Given the description of an element on the screen output the (x, y) to click on. 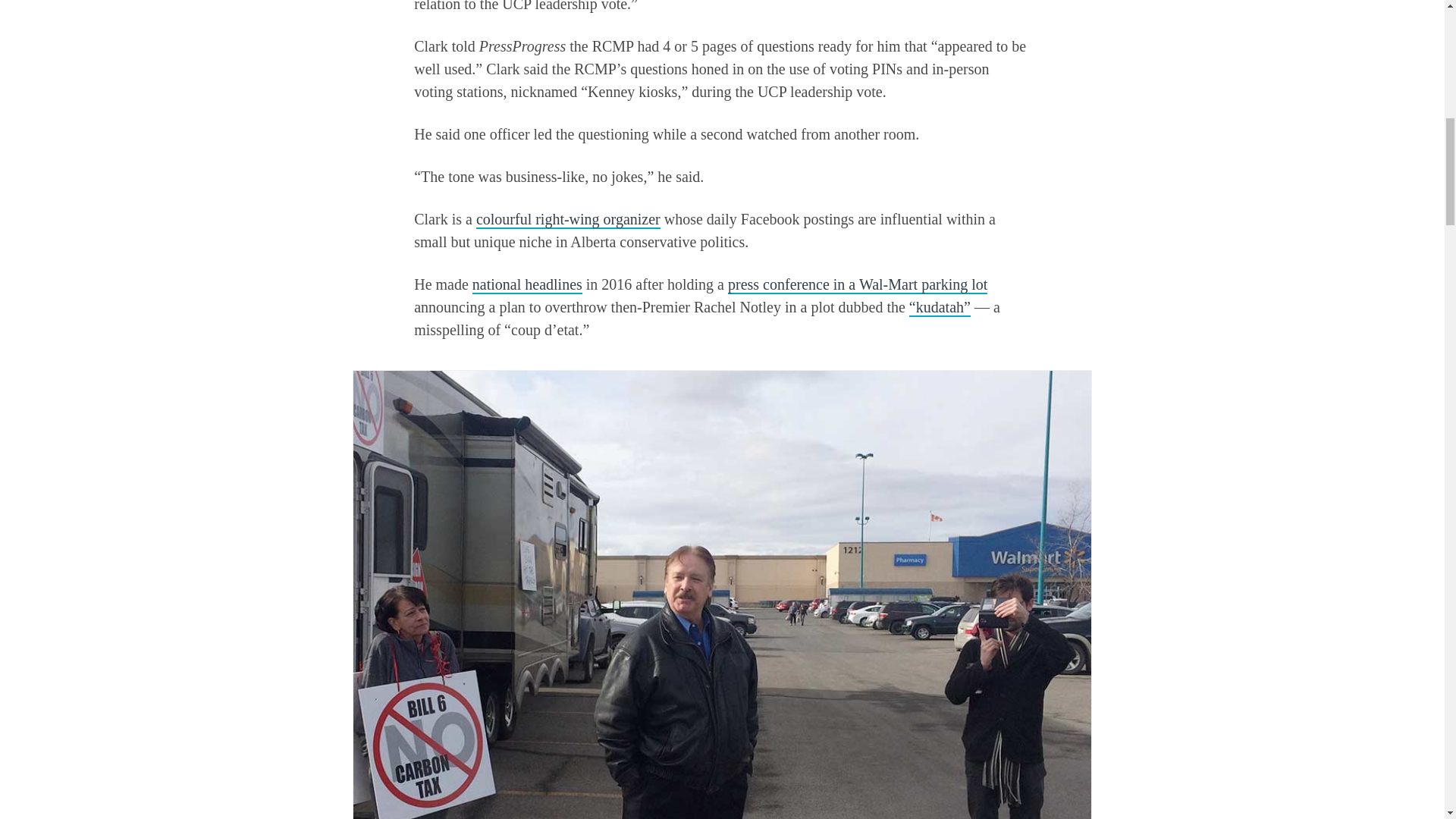
press conference in a Wal-Mart parking lot (857, 285)
colourful right-wing organizer (568, 219)
national headlines (526, 285)
